Given the description of an element on the screen output the (x, y) to click on. 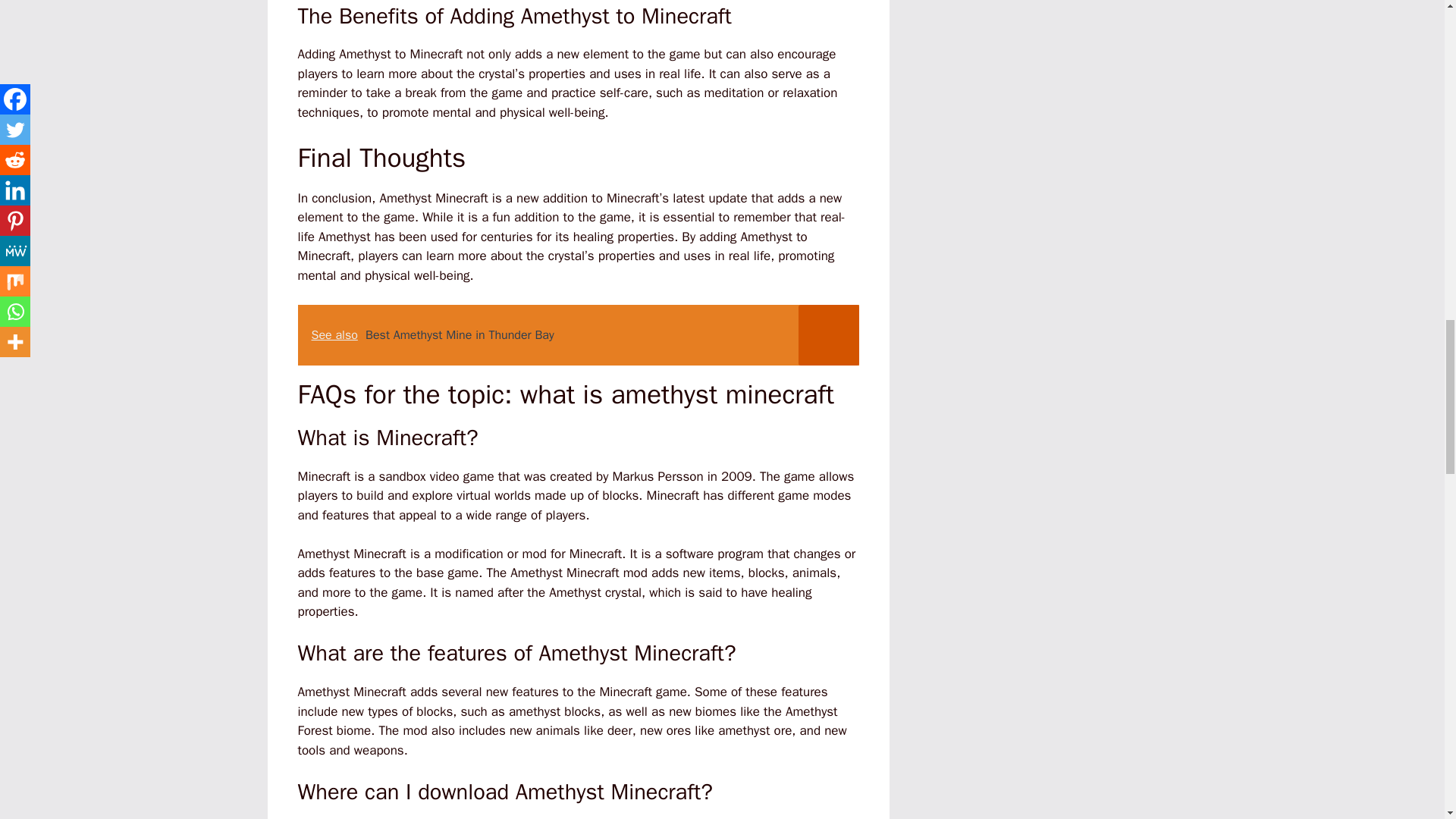
See also  Best Amethyst Mine in Thunder Bay (578, 334)
